Given the description of an element on the screen output the (x, y) to click on. 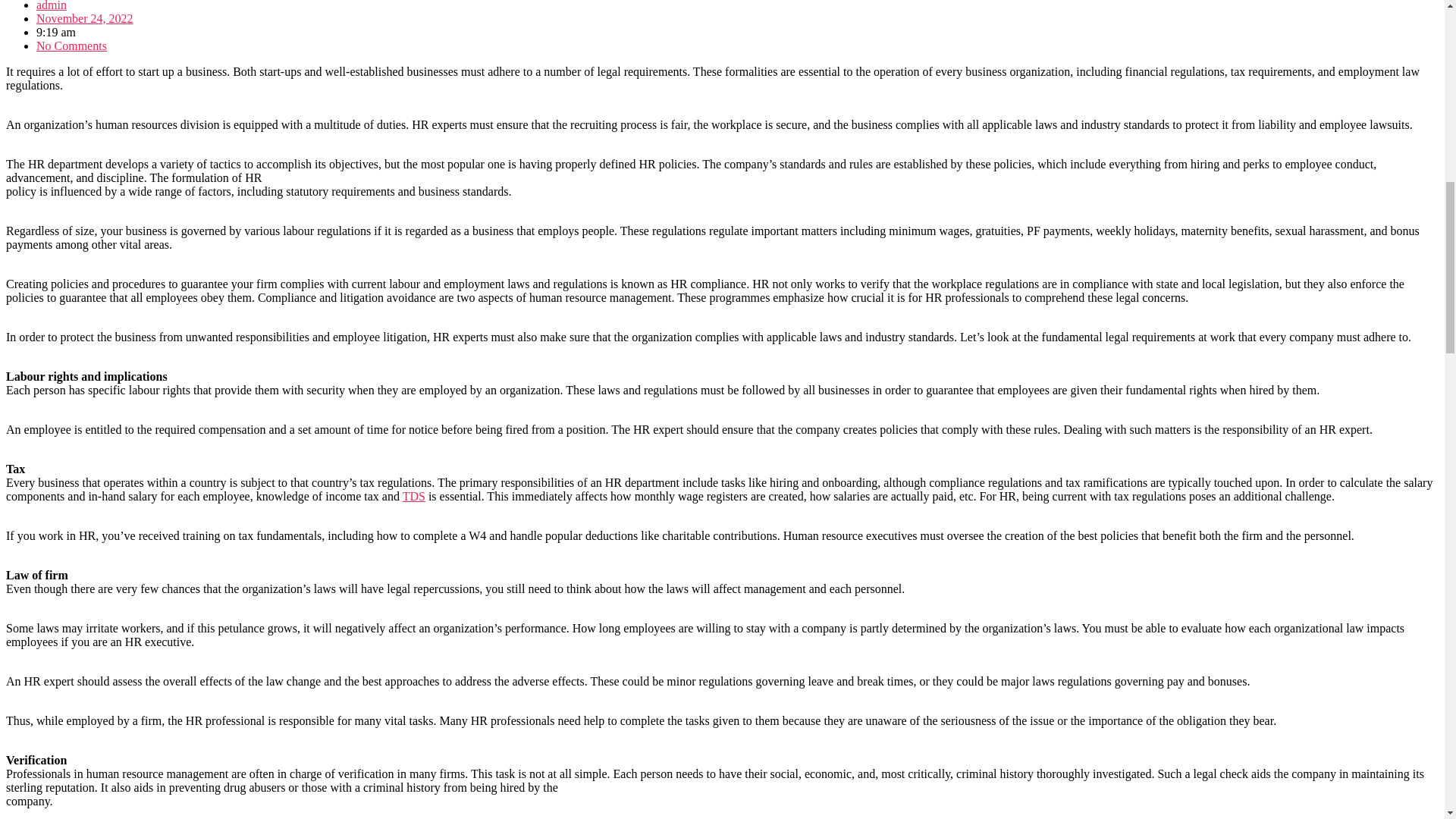
November 24, 2022 (84, 18)
No Comments (71, 45)
admin (51, 5)
TDS (414, 495)
